Given the description of an element on the screen output the (x, y) to click on. 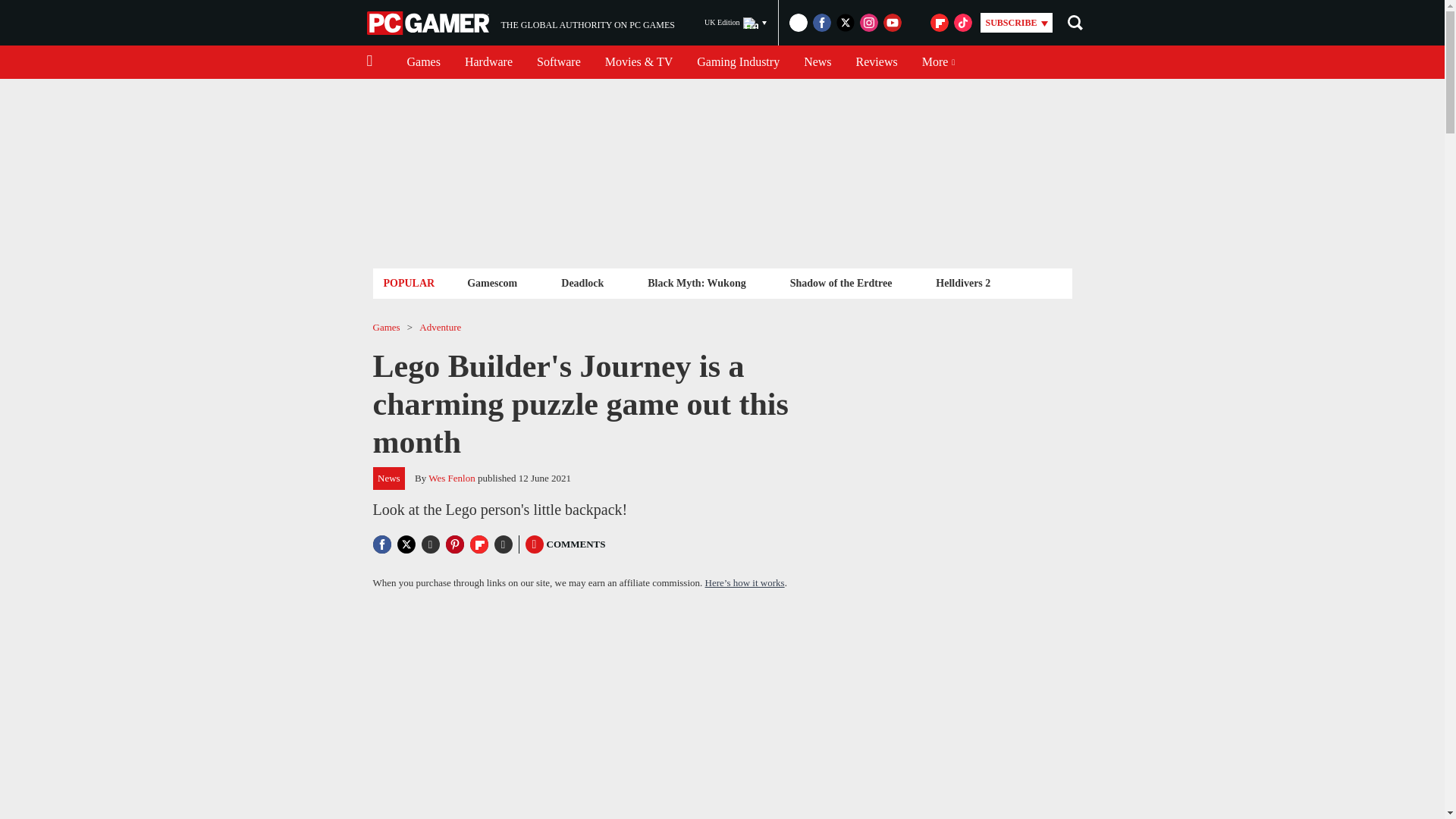
News (817, 61)
Software (558, 61)
PC Gamer (429, 22)
Reviews (877, 61)
UK Edition (520, 22)
Games (735, 22)
Deadlock (422, 61)
Gaming Industry (582, 282)
Gamescom (738, 61)
